Given the description of an element on the screen output the (x, y) to click on. 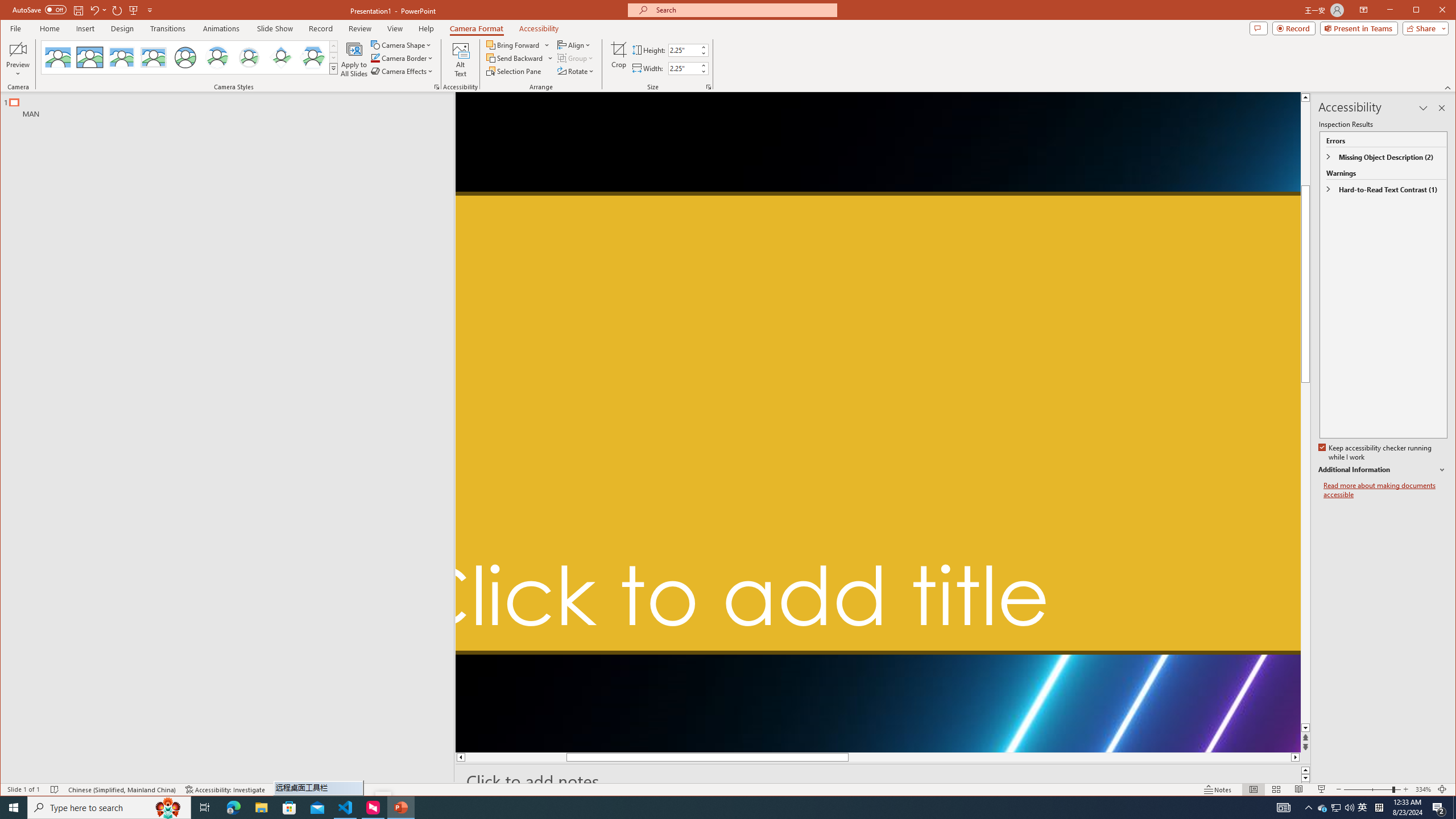
Rotate (577, 70)
Simple Frame Rectangle (90, 57)
Crop (618, 59)
Send Backward (520, 57)
